Given the description of an element on the screen output the (x, y) to click on. 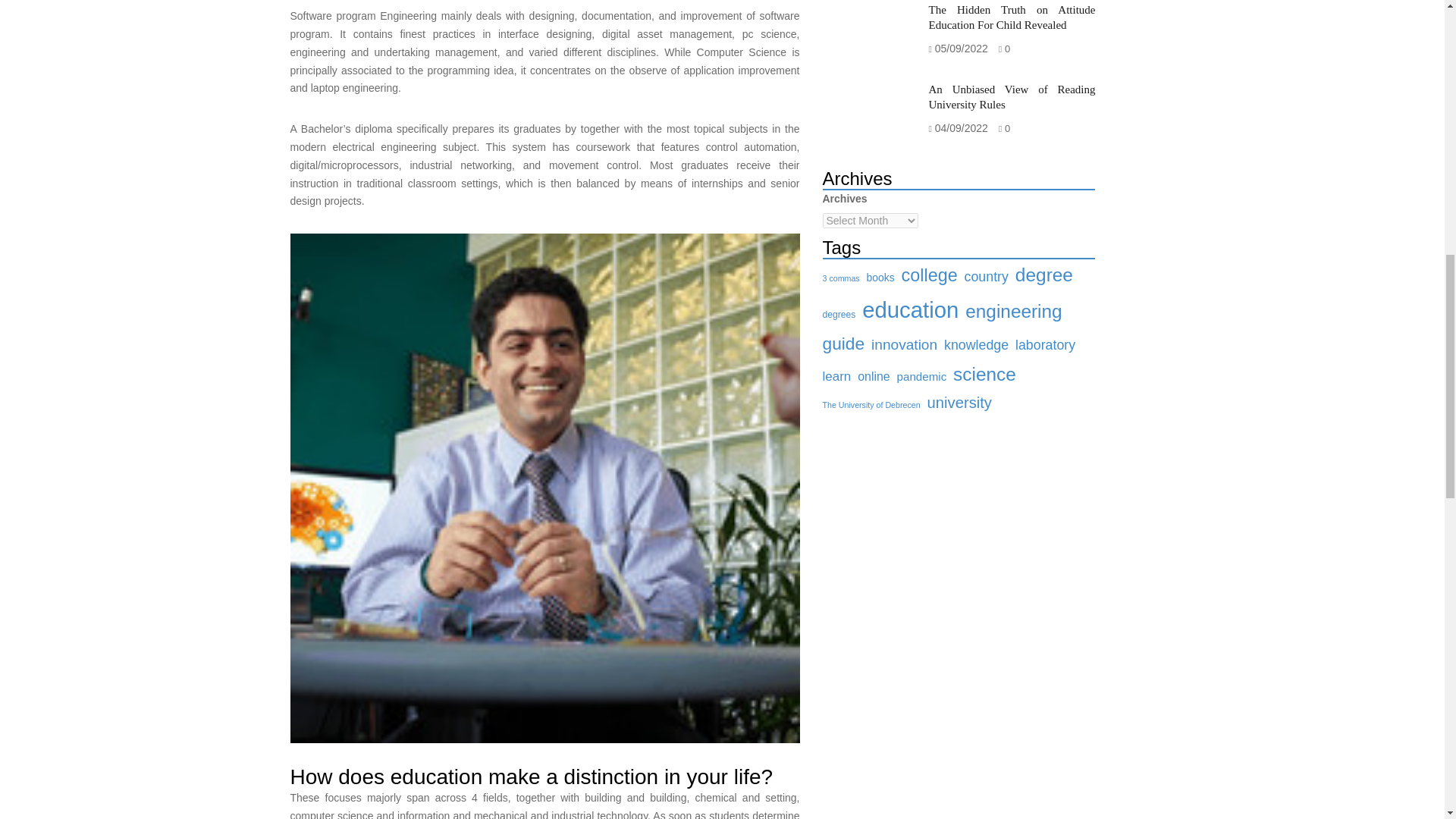
degree (1043, 275)
The Hidden Truth on Attitude Education For Child Revealed (1011, 17)
country (986, 276)
books (880, 278)
3 commas (840, 278)
college (929, 276)
An Unbiased View of Reading University Rules (1011, 96)
